Given the description of an element on the screen output the (x, y) to click on. 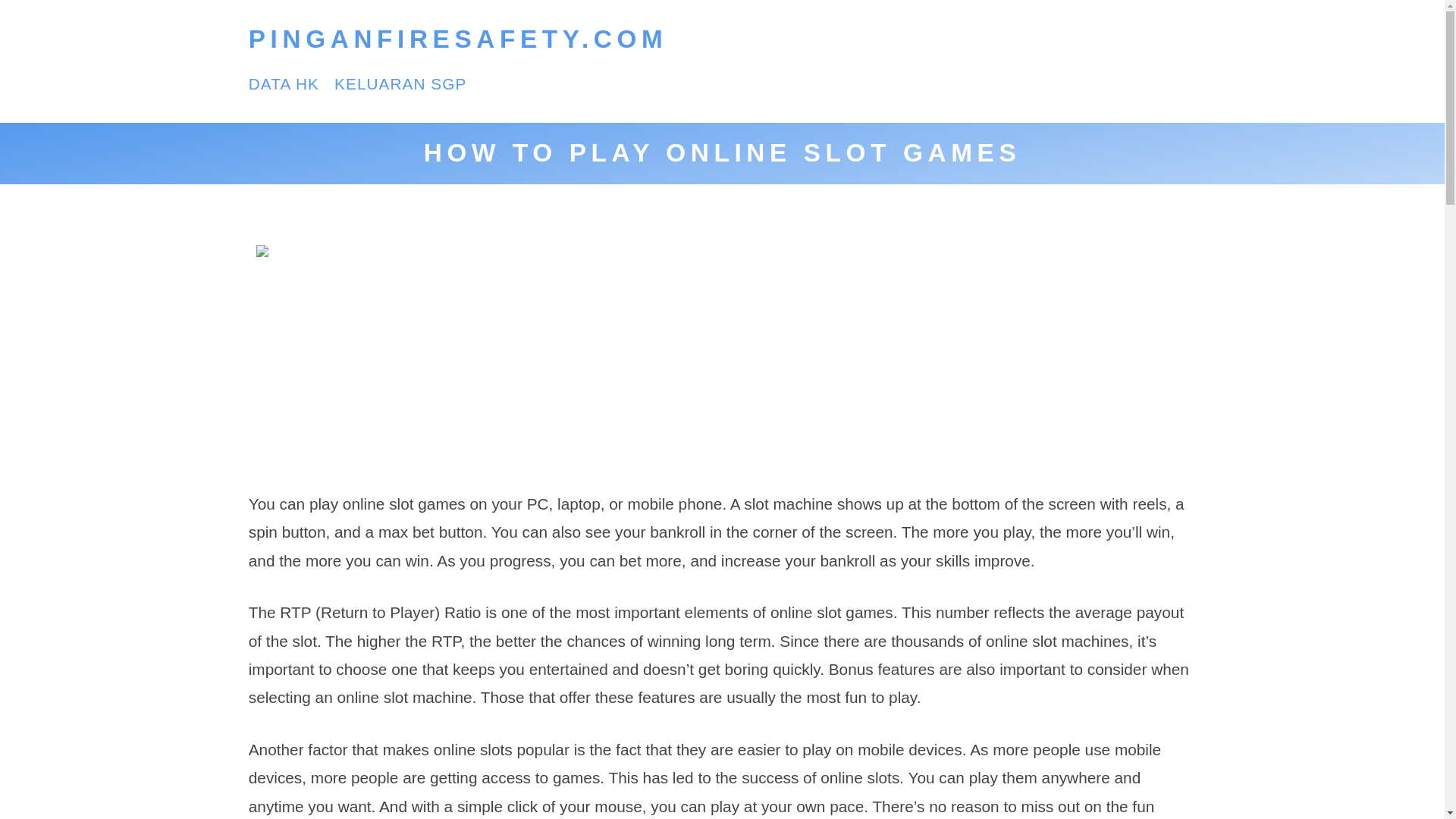
DATA HK (283, 83)
KELUARAN SGP (399, 83)
PINGANFIRESAFETY.COM (458, 39)
